Given the description of an element on the screen output the (x, y) to click on. 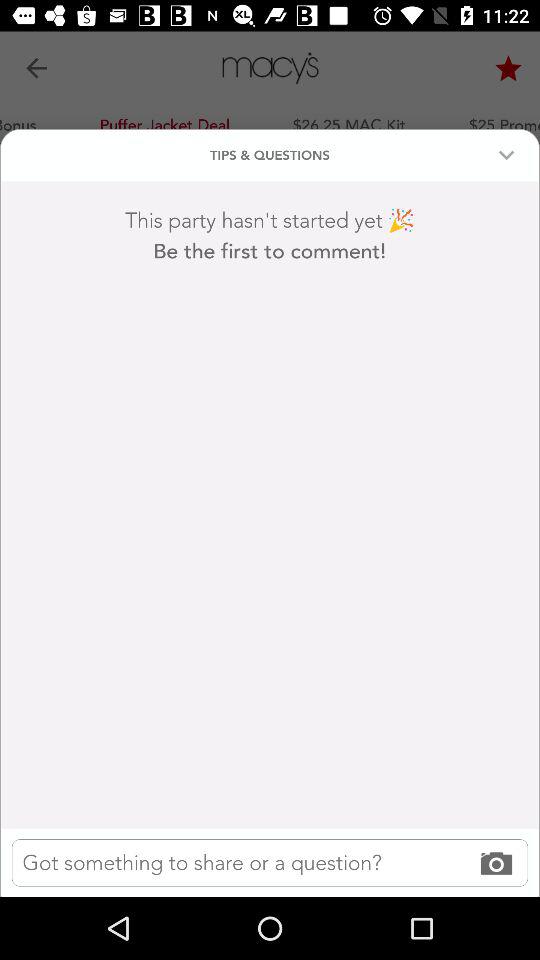
choose the item below the be the first icon (270, 862)
